Given the description of an element on the screen output the (x, y) to click on. 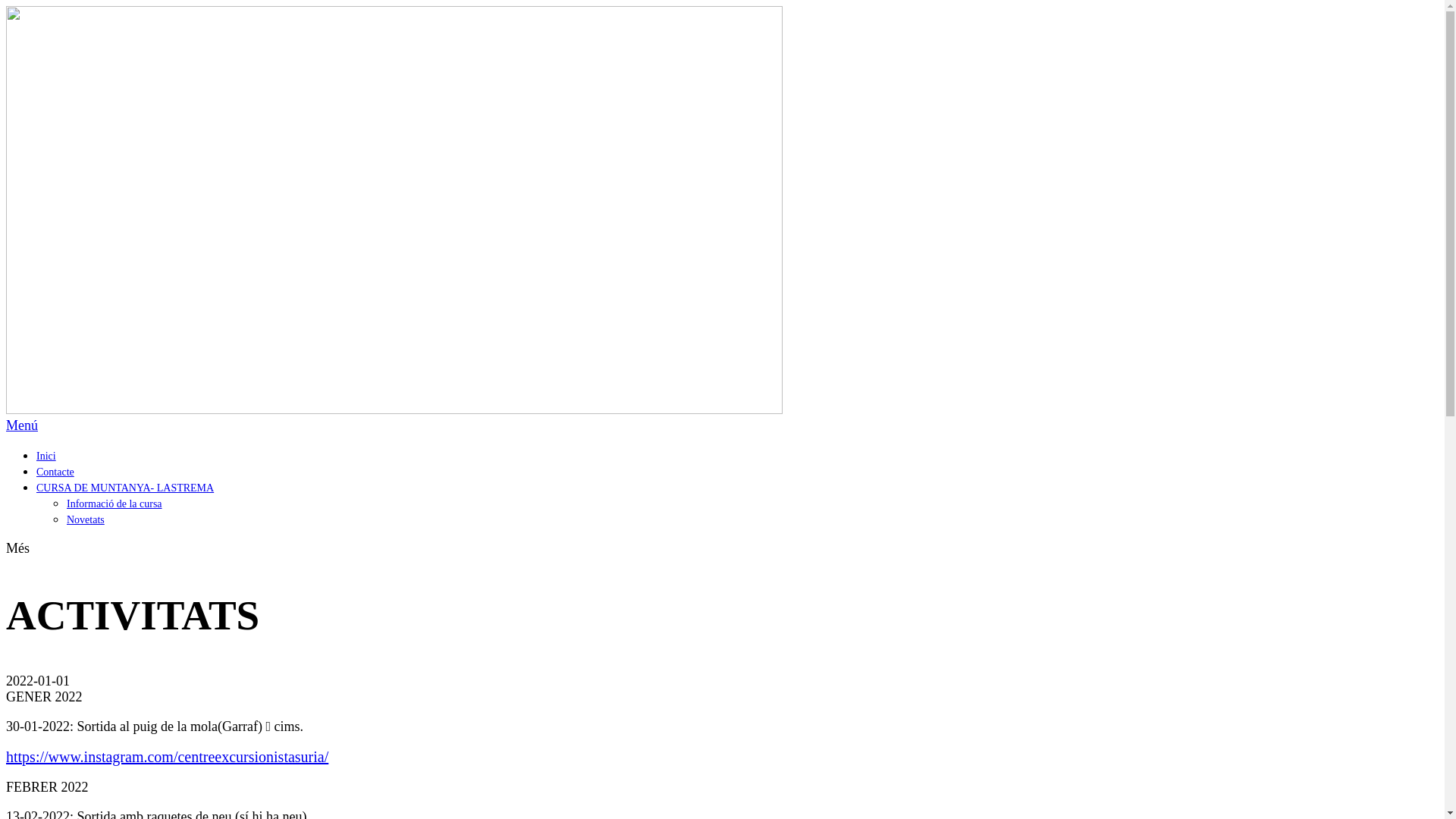
CURSA DE MUNTANYA- LASTREMA Element type: text (124, 487)
Novetats Element type: text (85, 519)
Inici Element type: text (46, 455)
https://www.instagram.com/centreexcursionistasuria/ Element type: text (167, 756)
Contacte Element type: text (55, 471)
